Given the description of an element on the screen output the (x, y) to click on. 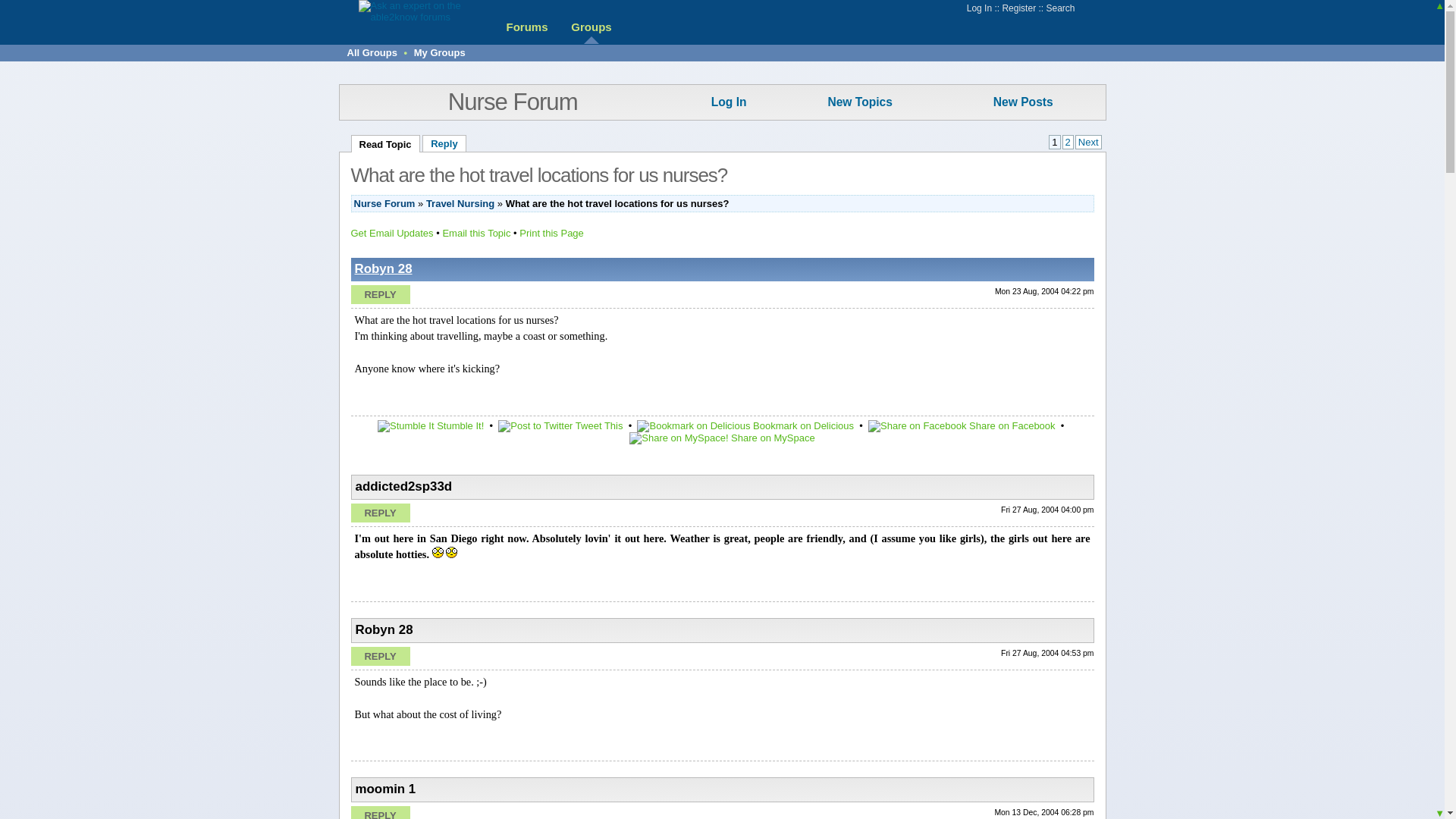
Email this Topic (476, 233)
View Profile (383, 268)
All Groups (372, 52)
Search (1059, 8)
Reply (379, 812)
My Groups (439, 52)
New Topics (859, 101)
REPLY (379, 512)
Search (1059, 8)
Log In (728, 101)
